Given the description of an element on the screen output the (x, y) to click on. 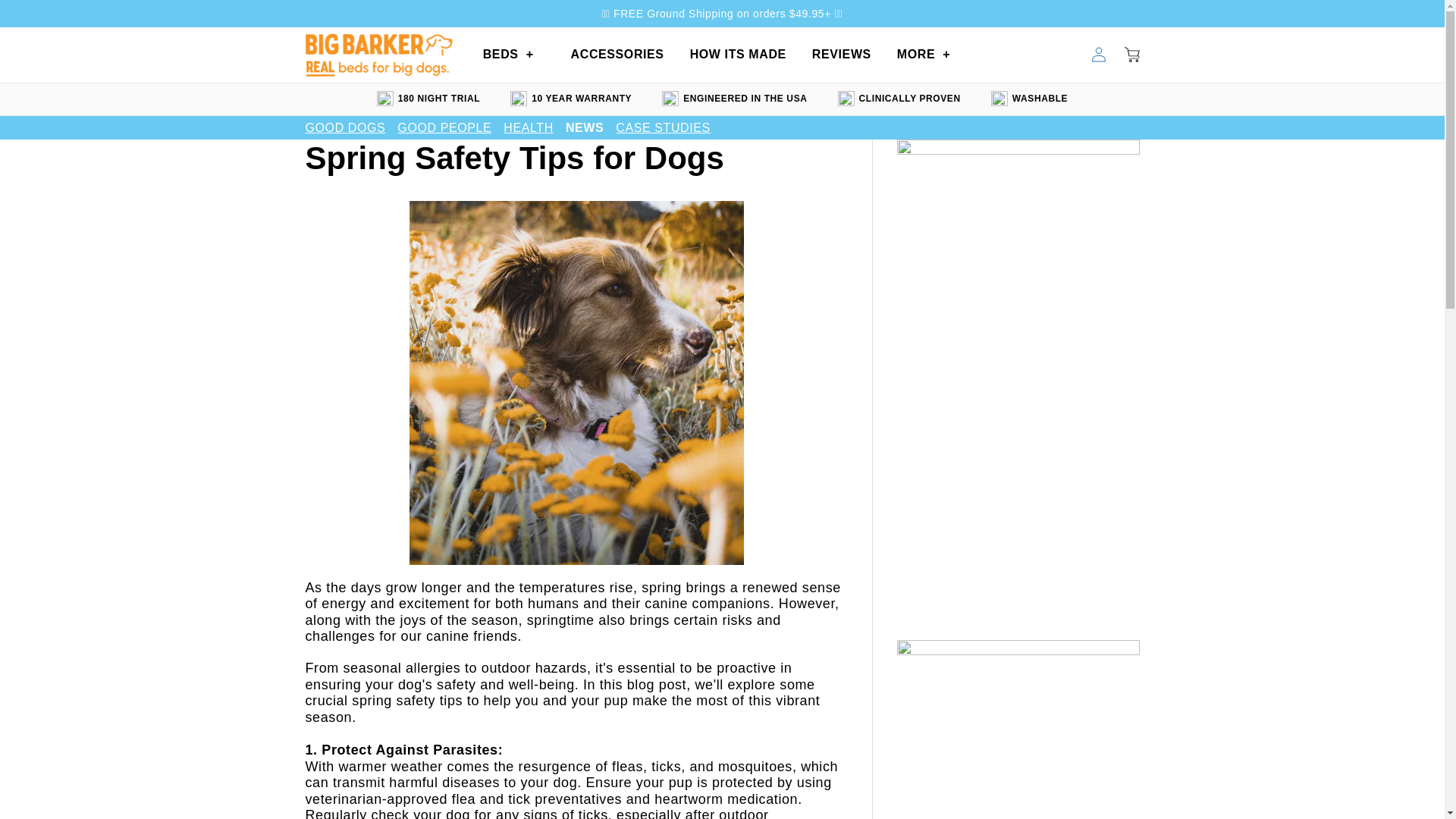
Cart (1131, 54)
SKIP TO CONTENT (45, 16)
ACCESSORIES (617, 54)
REVIEWS (841, 54)
GOOD DOGS (344, 127)
Log in (1098, 54)
HOW ITS MADE (737, 54)
